Given the description of an element on the screen output the (x, y) to click on. 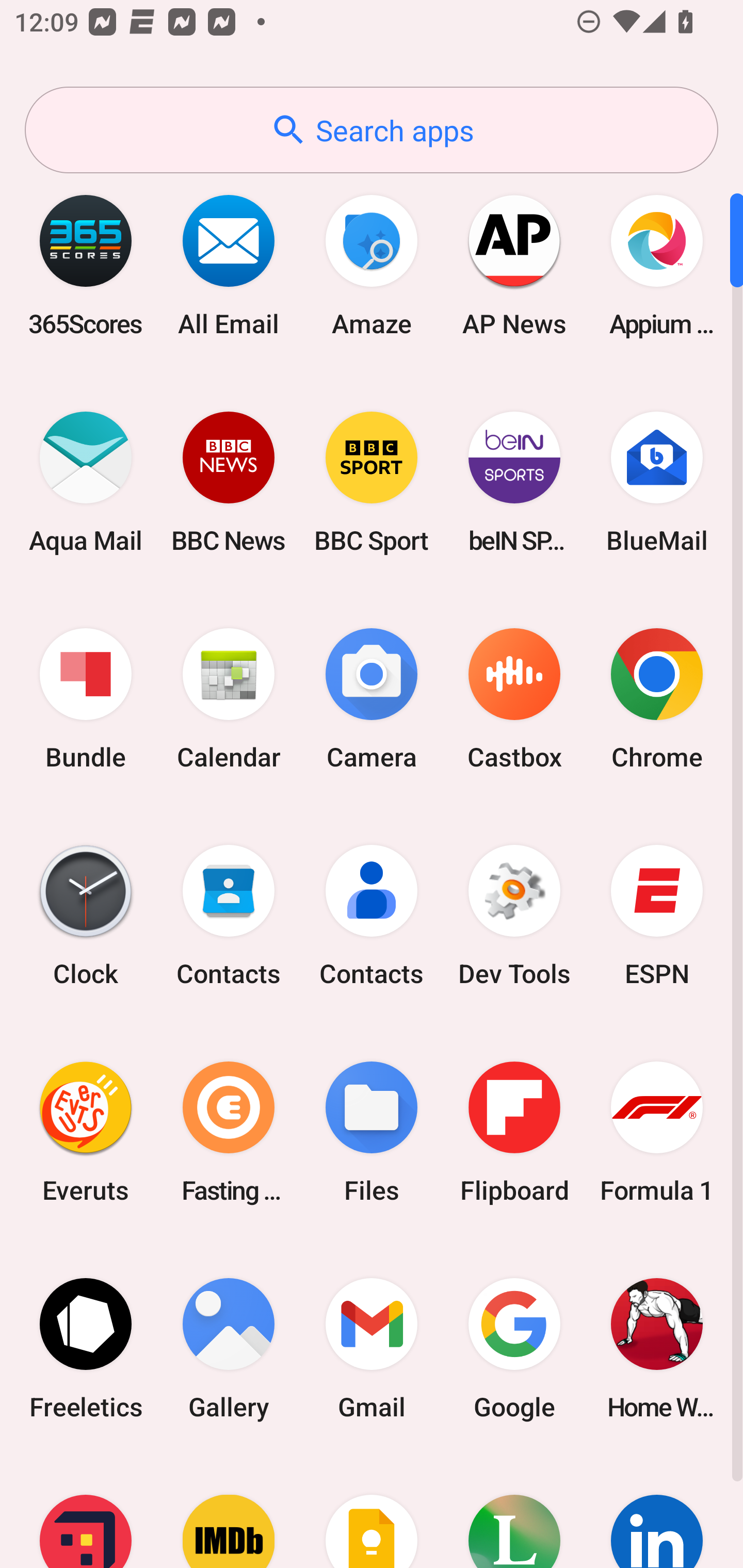
  Search apps (371, 130)
365Scores (85, 264)
All Email (228, 264)
Amaze (371, 264)
AP News (514, 264)
Appium Settings (656, 264)
Aqua Mail (85, 482)
BBC News (228, 482)
BBC Sport (371, 482)
beIN SPORTS (514, 482)
BlueMail (656, 482)
Bundle (85, 699)
Calendar (228, 699)
Camera (371, 699)
Castbox (514, 699)
Chrome (656, 699)
Clock (85, 915)
Contacts (228, 915)
Contacts (371, 915)
Dev Tools (514, 915)
ESPN (656, 915)
Everuts (85, 1131)
Fasting Coach (228, 1131)
Files (371, 1131)
Flipboard (514, 1131)
Formula 1 (656, 1131)
Freeletics (85, 1348)
Gallery (228, 1348)
Gmail (371, 1348)
Google (514, 1348)
Home Workout (656, 1348)
Hotels.com (85, 1512)
IMDb (228, 1512)
Keep Notes (371, 1512)
Lifesum (514, 1512)
LinkedIn (656, 1512)
